Given the description of an element on the screen output the (x, y) to click on. 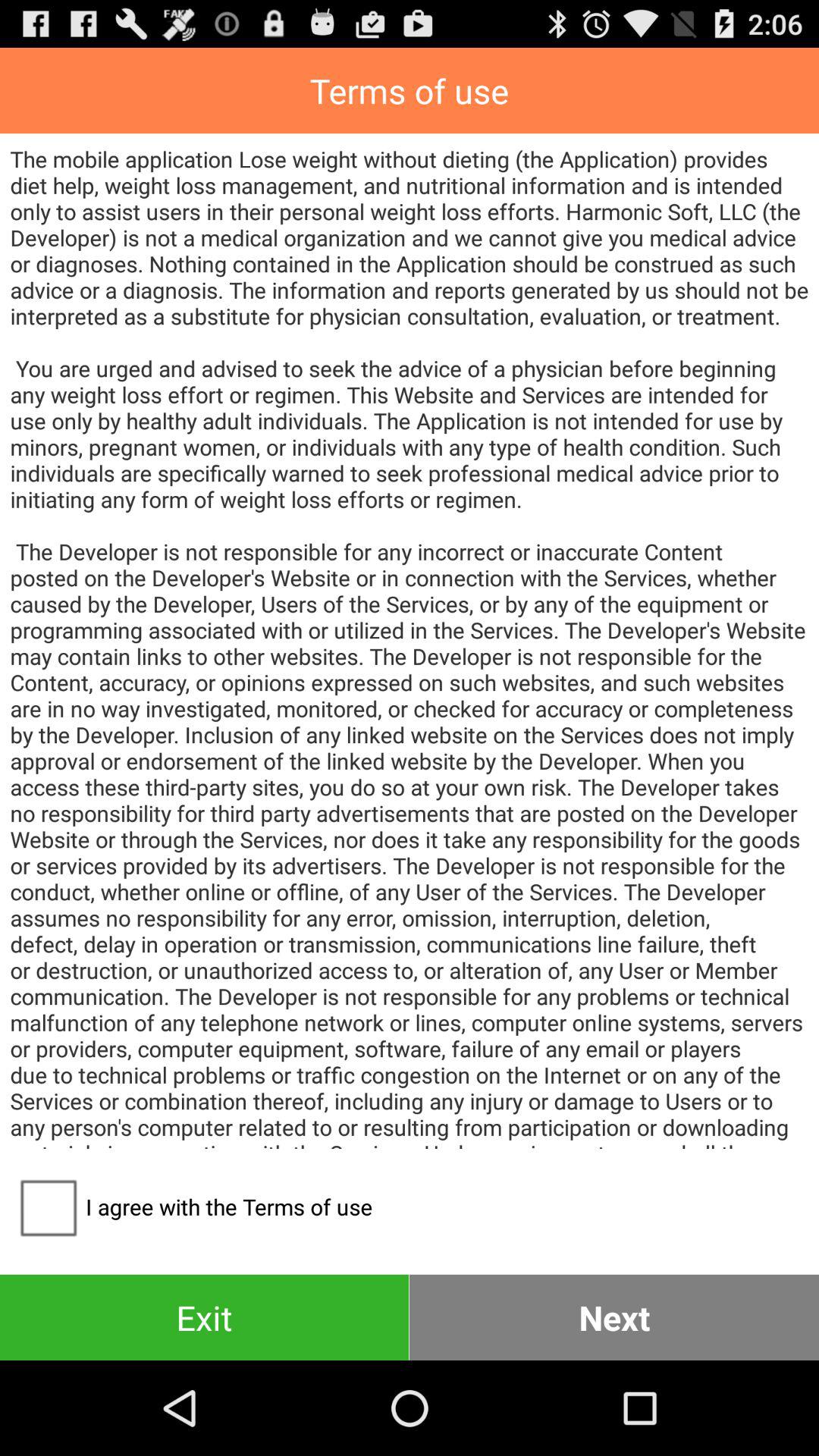
click button next to next (204, 1317)
